Given the description of an element on the screen output the (x, y) to click on. 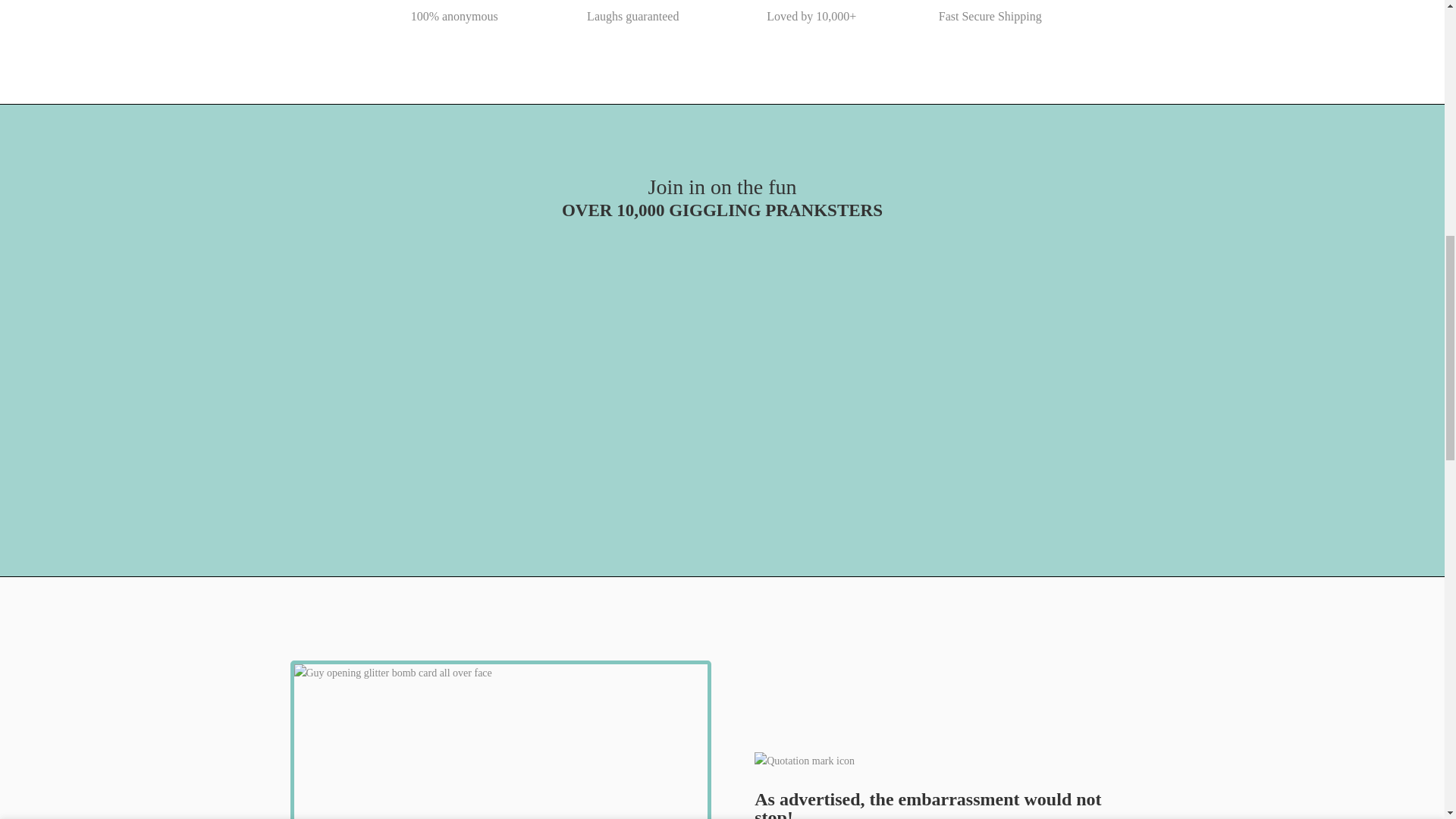
Shipping icon (990, 5)
Person icon (453, 5)
Laughing emoji (632, 5)
1 (1001, 35)
Star icon (811, 5)
Opening glitter bomb card (499, 739)
Quotation mark icon (944, 771)
